Given the description of an element on the screen output the (x, y) to click on. 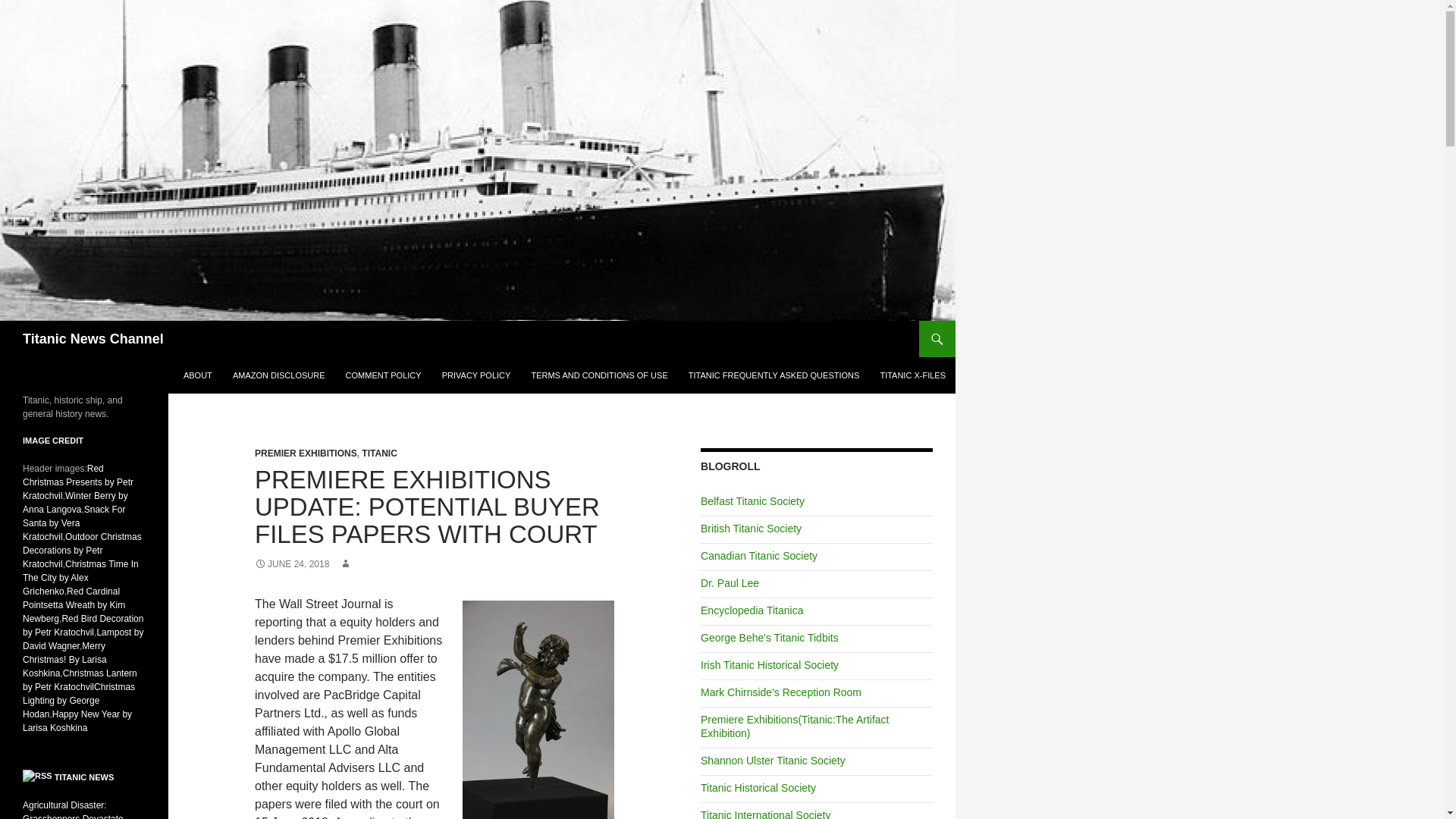
TERMS AND CONDITIONS OF USE (599, 375)
Belfast Titanic Society (752, 500)
PRIVACY POLICY (475, 375)
ABOUT (197, 375)
TITANIC FREQUENTLY ASKED QUESTIONS (774, 375)
George Behe's Titanic Tidbits (769, 637)
Mark Chirnside's Reception Room (780, 692)
TITANIC (378, 452)
COMMENT POLICY (383, 375)
TITANIC X-FILES (912, 375)
PREMIER EXHIBITIONS (305, 452)
Titanic International Society (764, 814)
Shannon Ulster Titanic Society (772, 760)
